Given the description of an element on the screen output the (x, y) to click on. 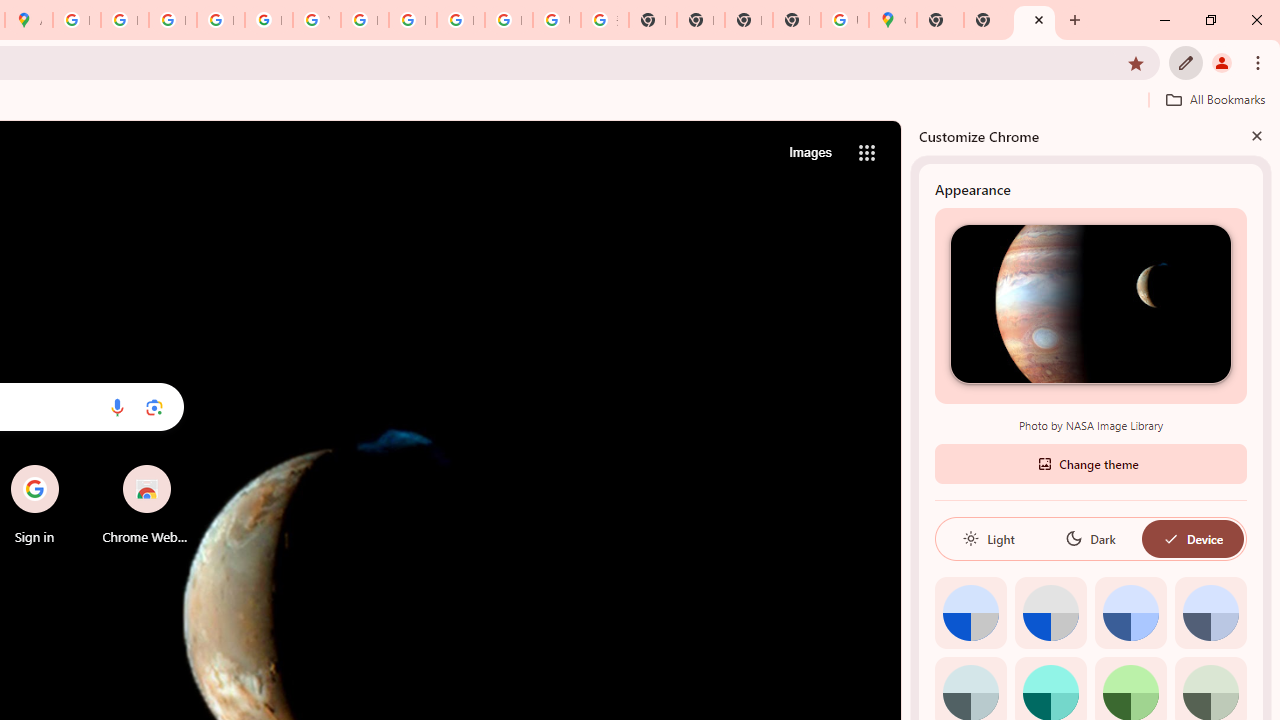
Use Google Maps in Space - Google Maps Help (844, 20)
Default color (970, 612)
New Tab (939, 20)
Dark (1090, 538)
Light (988, 538)
New Tab (987, 20)
